Given the description of an element on the screen output the (x, y) to click on. 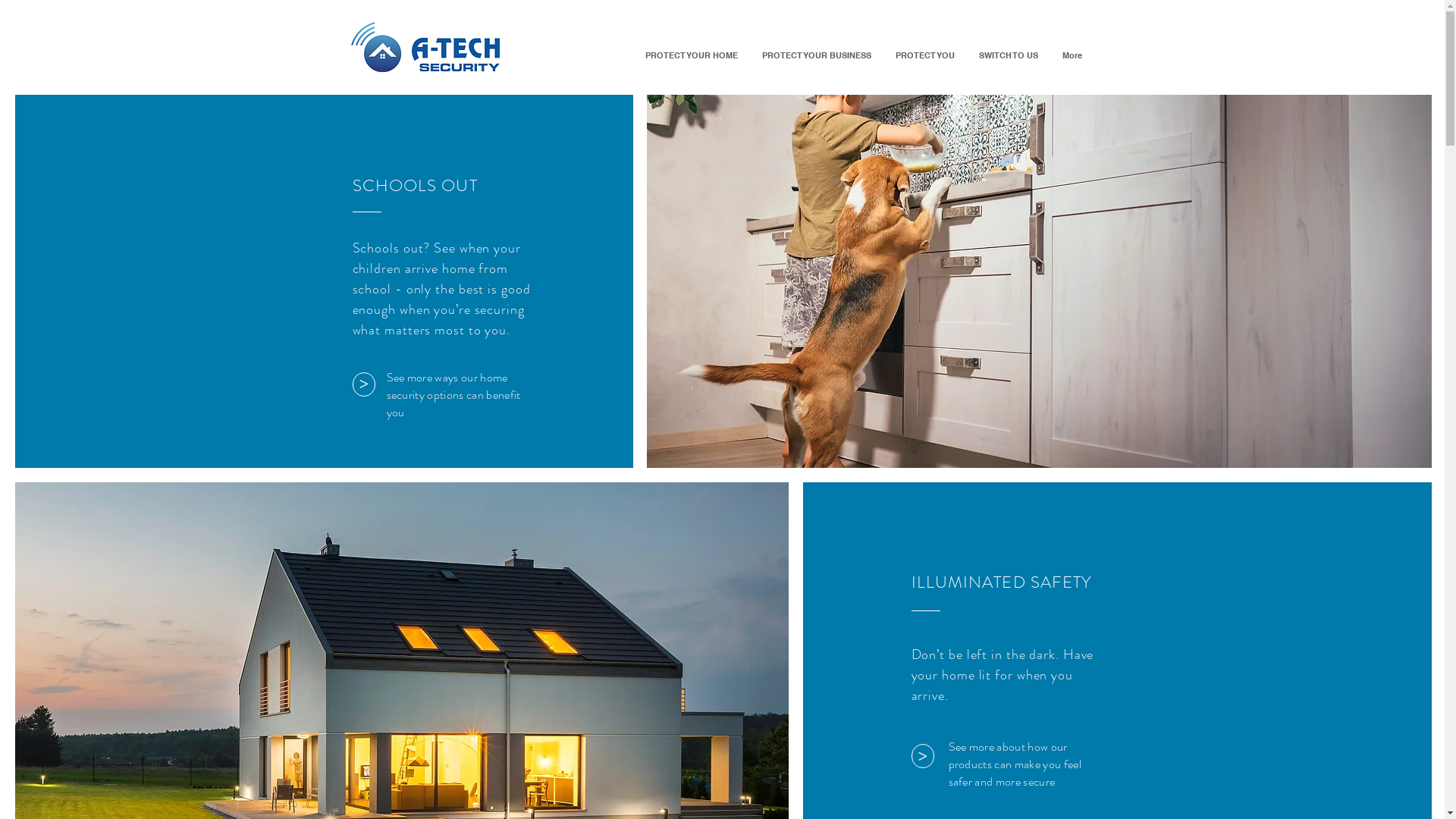
PROTECT YOUR HOME Element type: text (690, 55)
> Element type: text (362, 384)
SWITCH TO US Element type: text (1007, 55)
PROTECT YOU Element type: text (924, 55)
PROTECT YOUR BUSINESS Element type: text (815, 55)
> Element type: text (922, 755)
